Given the description of an element on the screen output the (x, y) to click on. 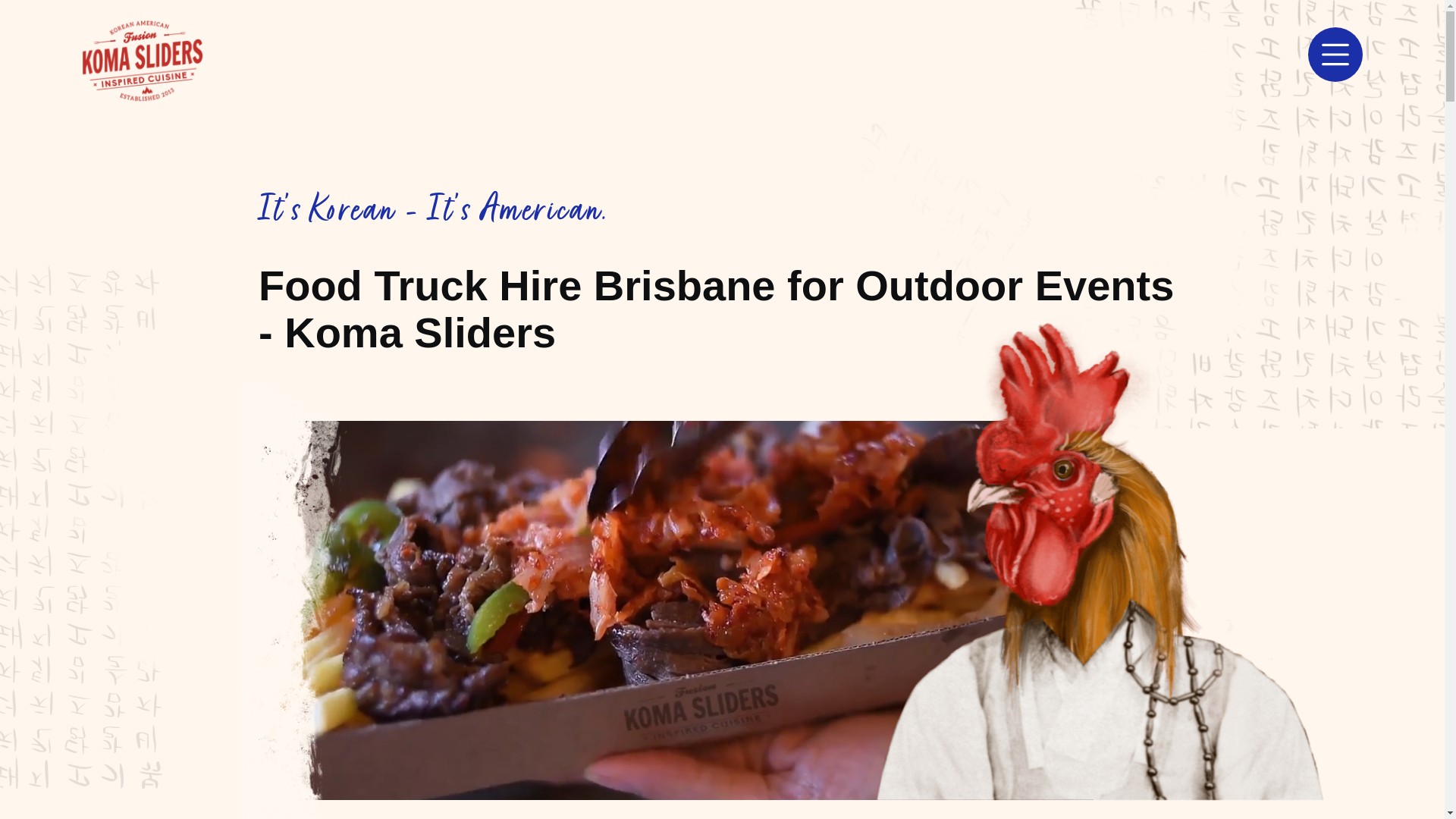
Koma Sliders Logo Element type: hover (142, 60)
hamburger menu Element type: hover (1335, 54)
